Given the description of an element on the screen output the (x, y) to click on. 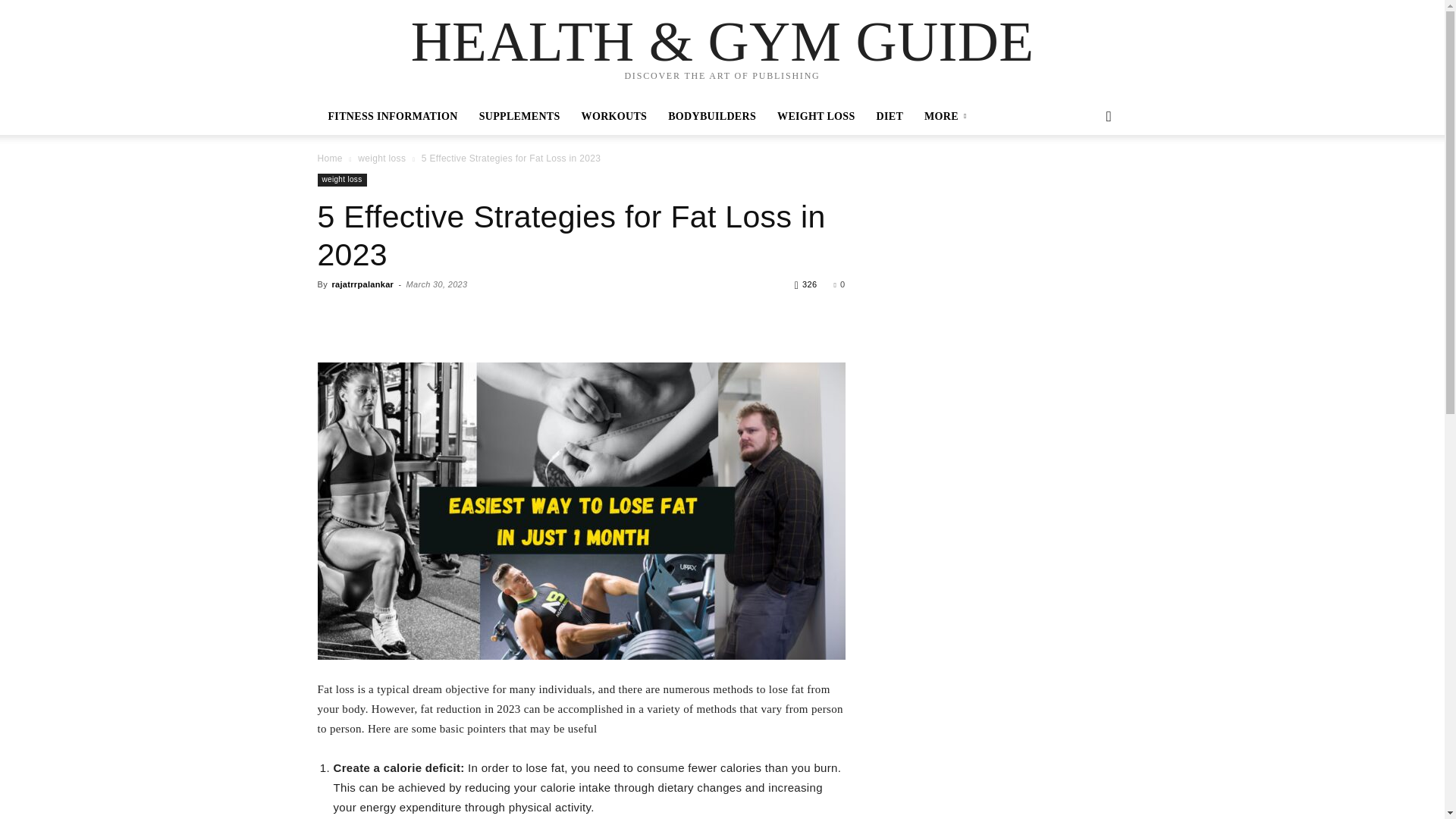
FITNESS INFORMATION (392, 116)
WEIGHT LOSS (815, 116)
Search (1085, 177)
MORE (947, 116)
BODYBUILDERS (712, 116)
weight loss (382, 158)
View all posts in weight loss (382, 158)
DIET (890, 116)
WORKOUTS (614, 116)
